Given the description of an element on the screen output the (x, y) to click on. 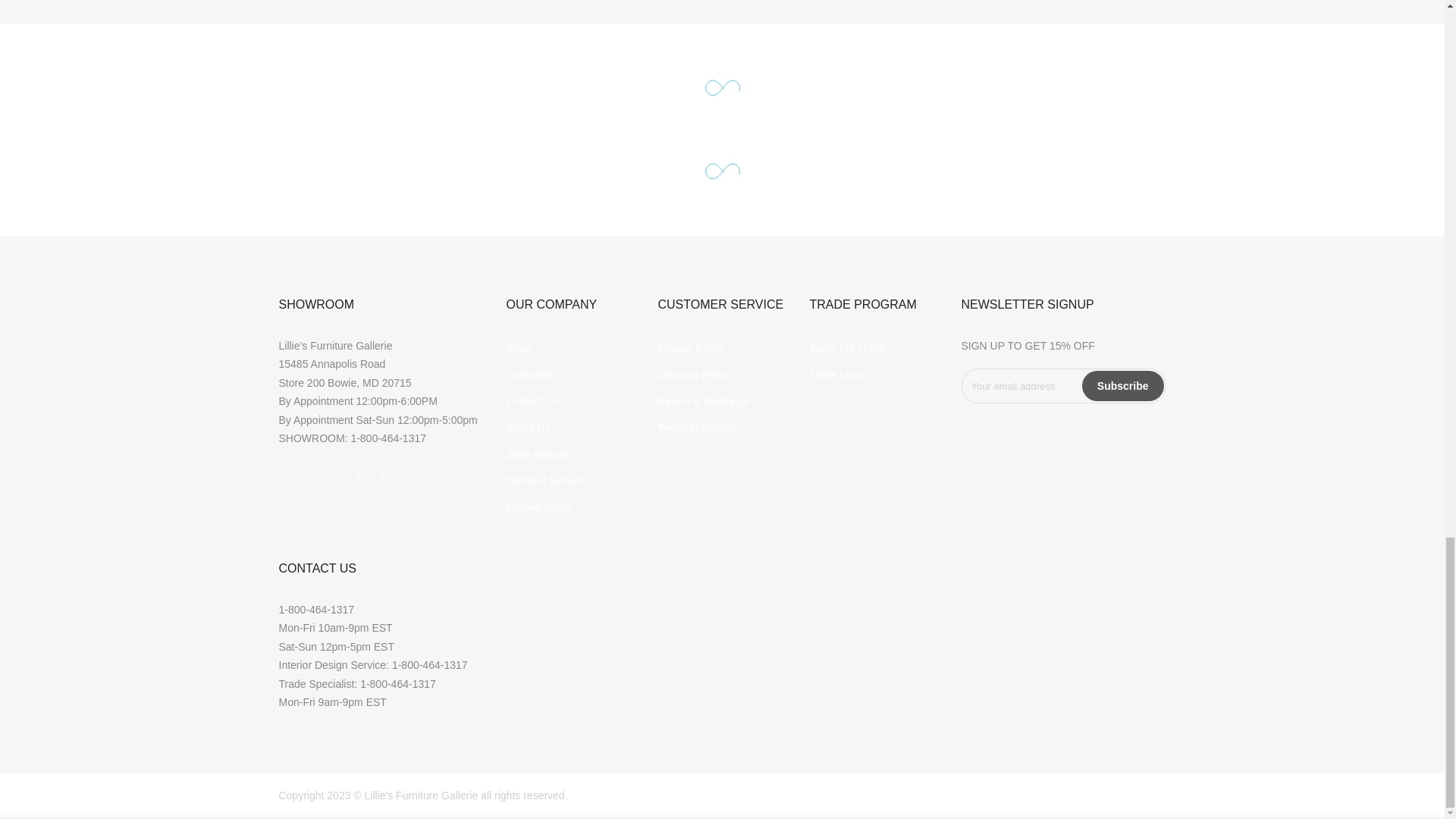
Collection (529, 374)
Contact Us (532, 400)
About Us (528, 427)
Shop (518, 347)
